Given the description of an element on the screen output the (x, y) to click on. 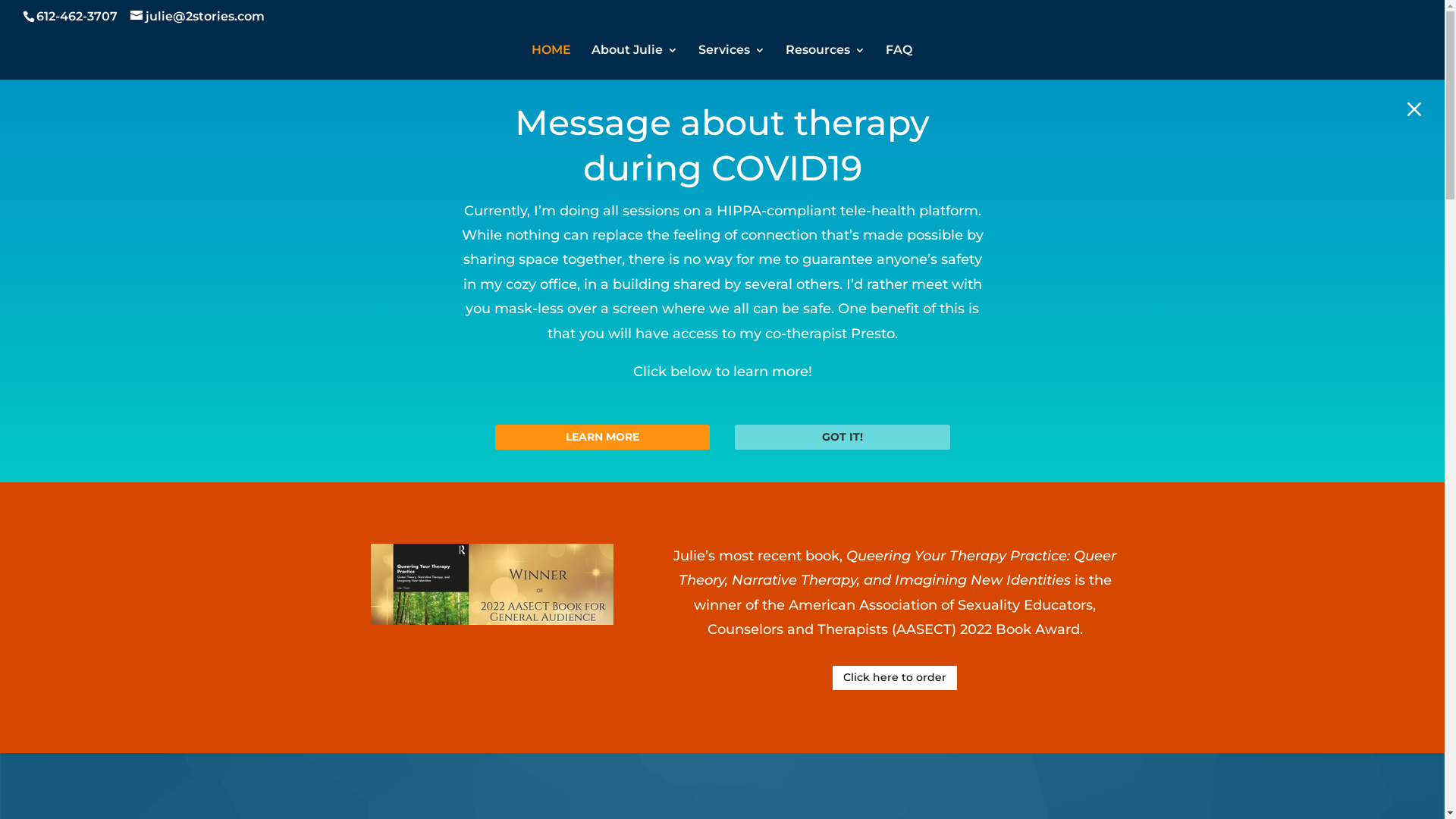
FAQ Element type: text (898, 61)
Services Element type: text (730, 61)
LEARN MORE Element type: text (601, 436)
Click here to order Element type: text (894, 677)
About Julie Element type: text (634, 61)
BOOK Element type: hover (491, 583)
Resources Element type: text (825, 61)
HOME Element type: text (550, 61)
julie@2stories.com Element type: text (197, 16)
GOT IT! Element type: text (842, 436)
